Given the description of an element on the screen output the (x, y) to click on. 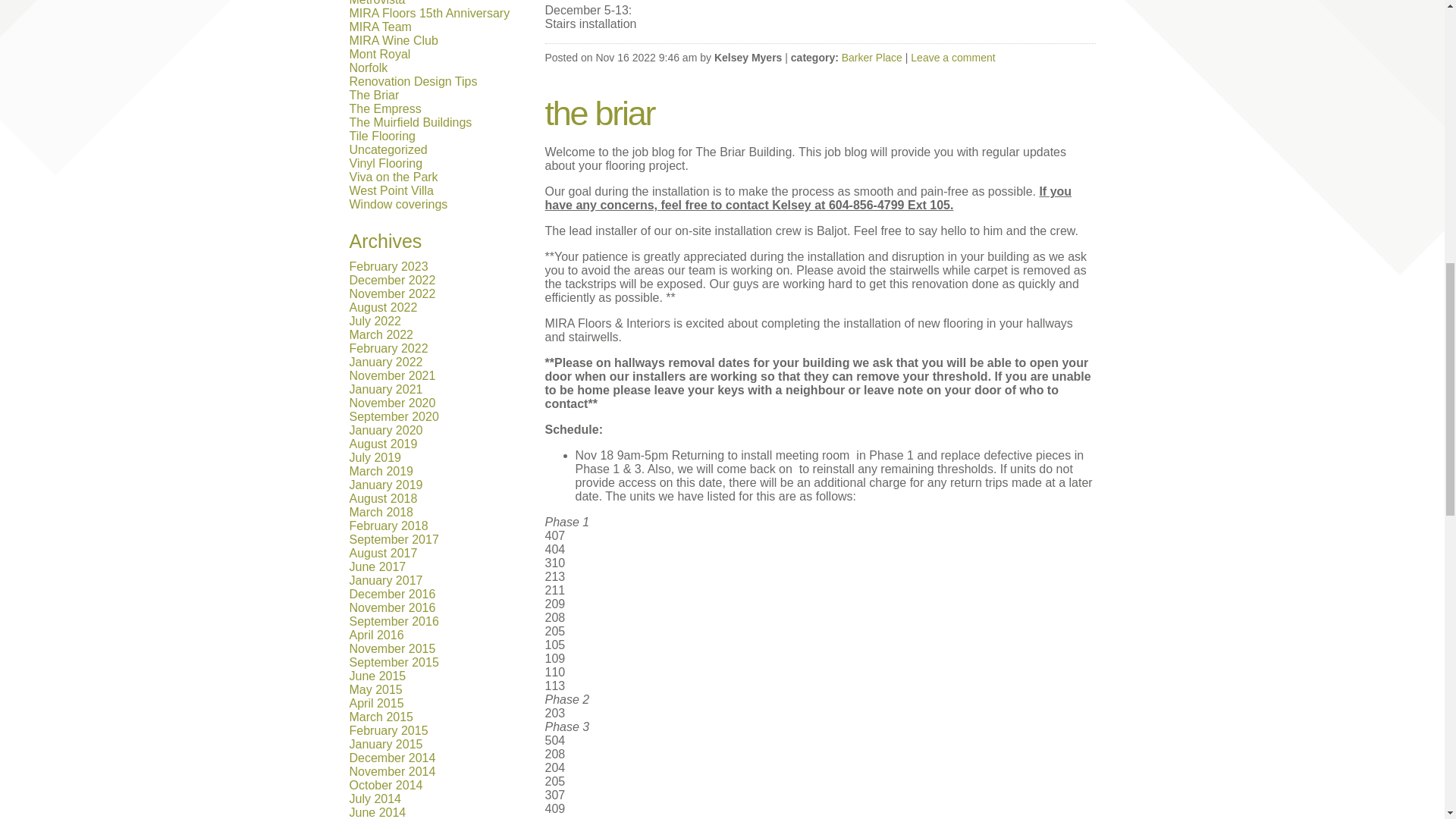
Metrovista (376, 2)
MIRA Floors 15th Anniversary (429, 12)
MIRA Team (379, 26)
Permalink to The Briar (598, 113)
Leave a comment (952, 57)
the briar (598, 113)
Barker Place (871, 57)
